Given the description of an element on the screen output the (x, y) to click on. 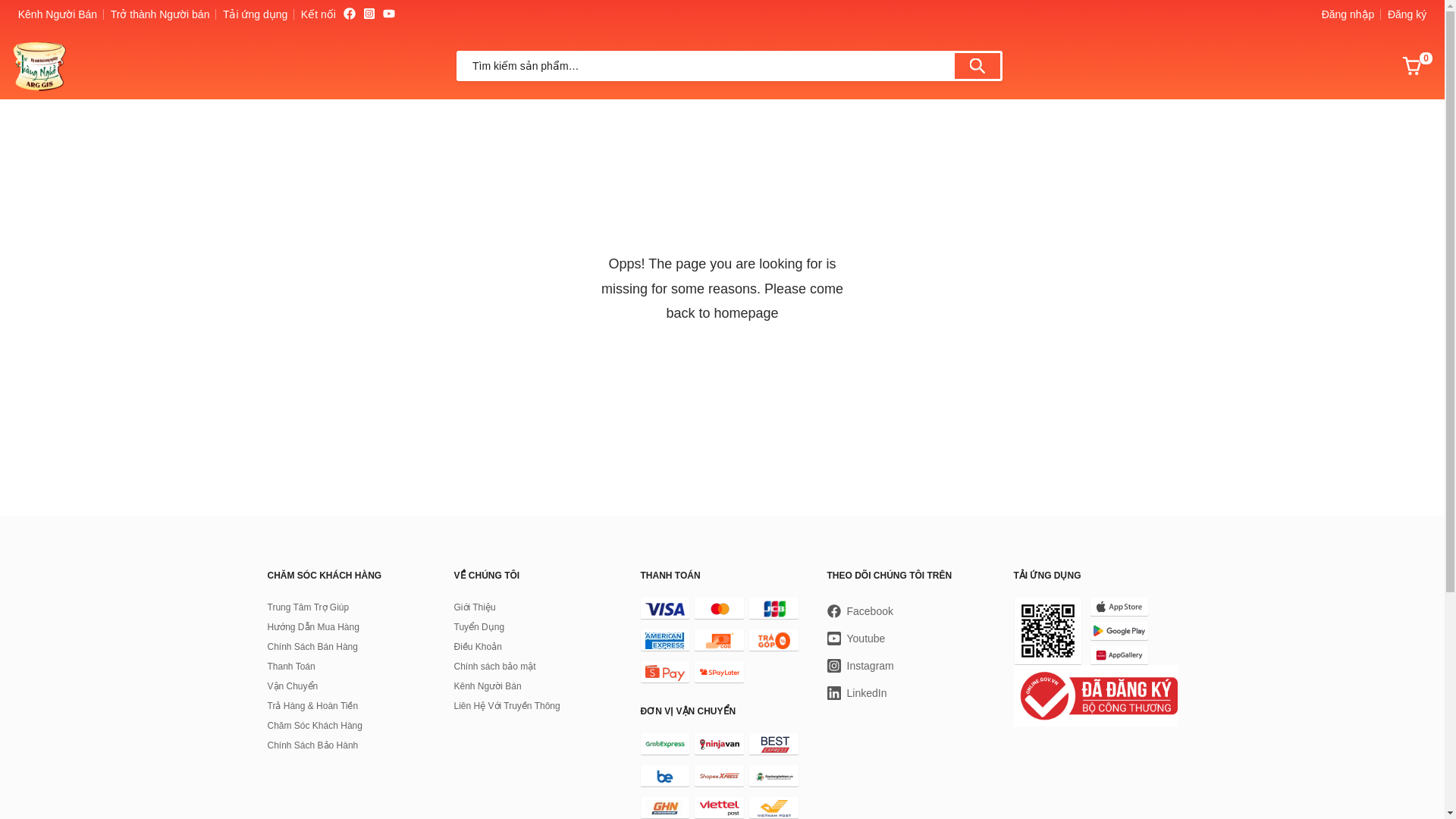
Search (983, 65)
0 (1412, 66)
